Given the description of an element on the screen output the (x, y) to click on. 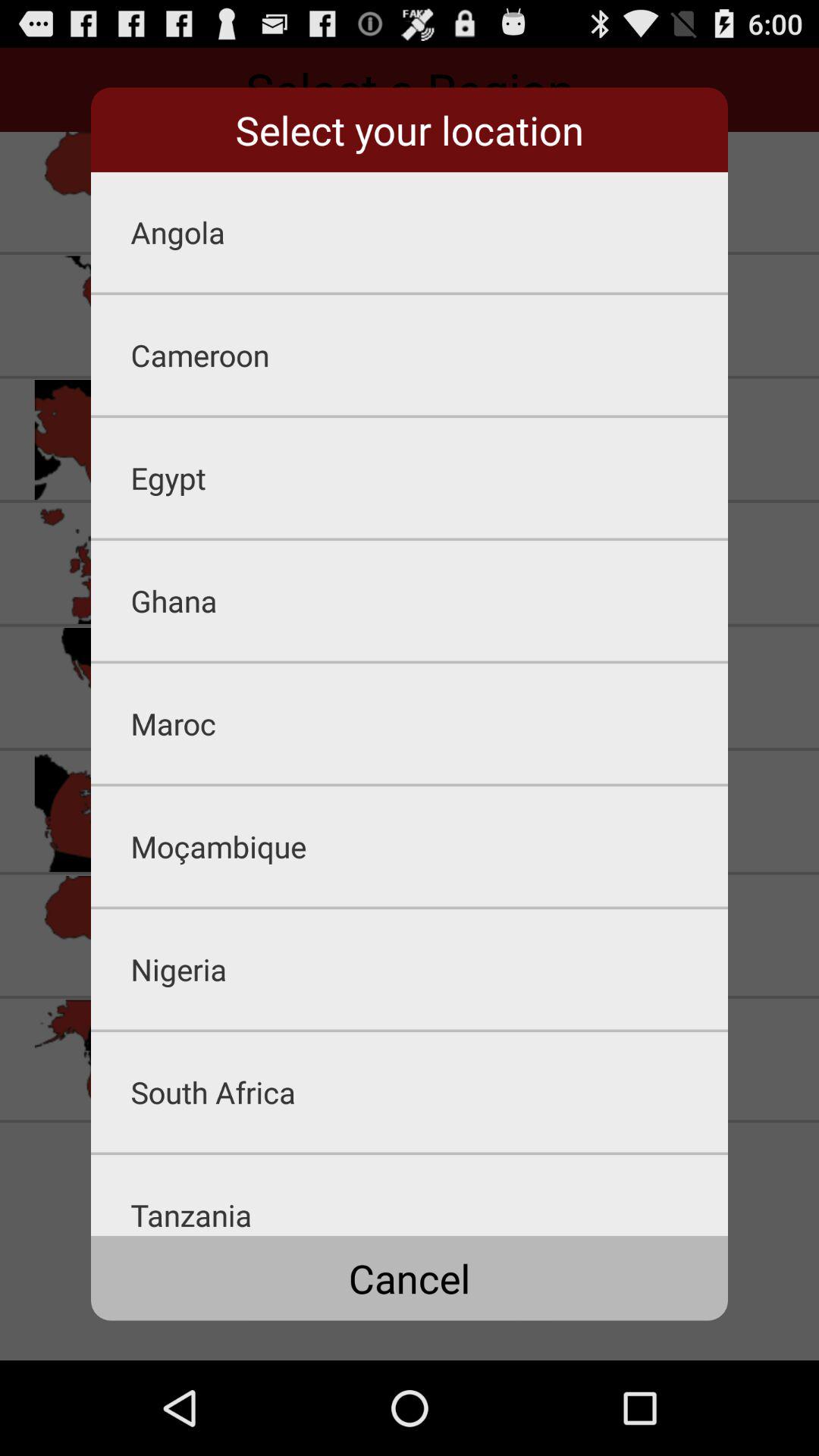
launch the egypt item (429, 478)
